Given the description of an element on the screen output the (x, y) to click on. 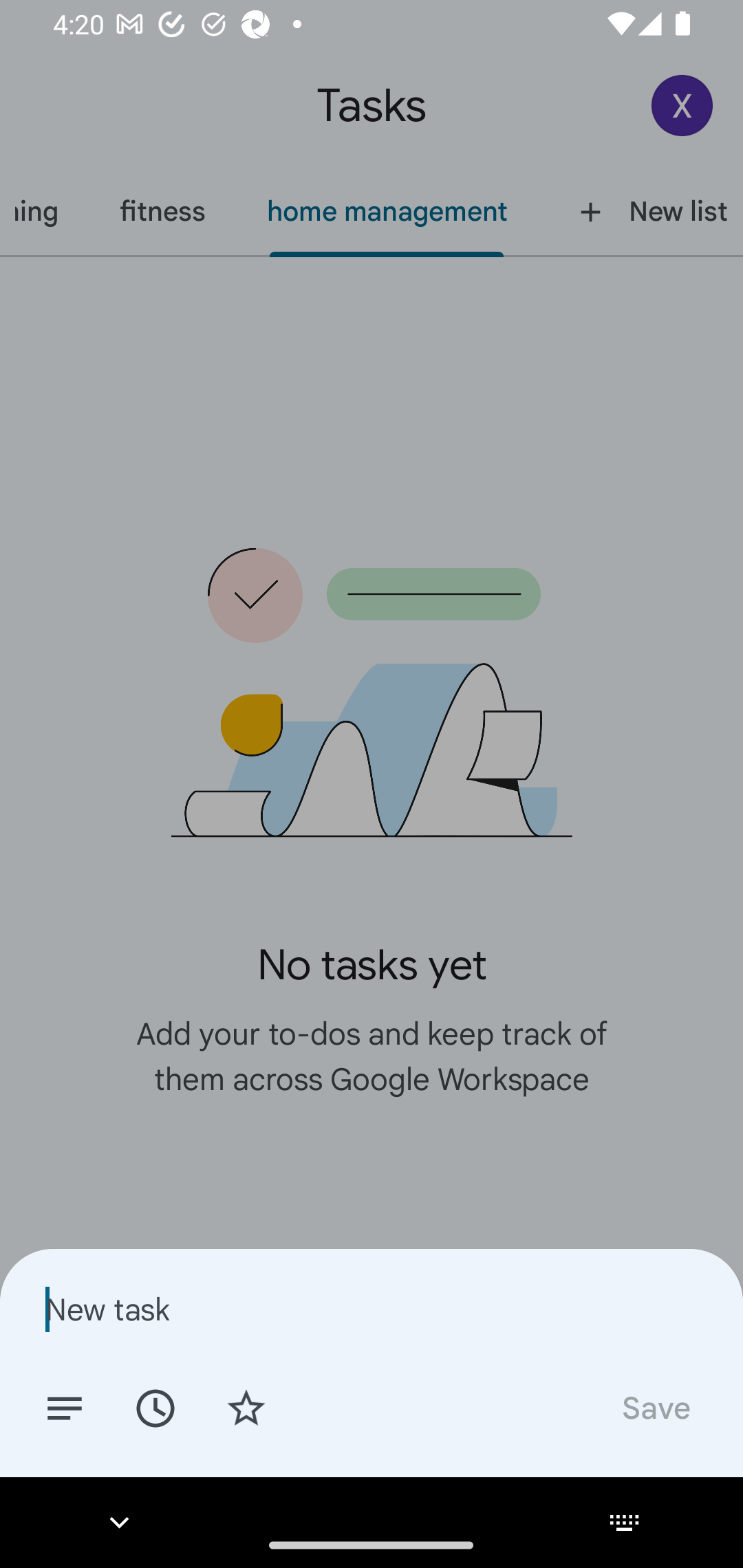
New task (371, 1308)
Save (655, 1407)
Add details (64, 1407)
Set date/time (154, 1407)
Add star (245, 1407)
